Given the description of an element on the screen output the (x, y) to click on. 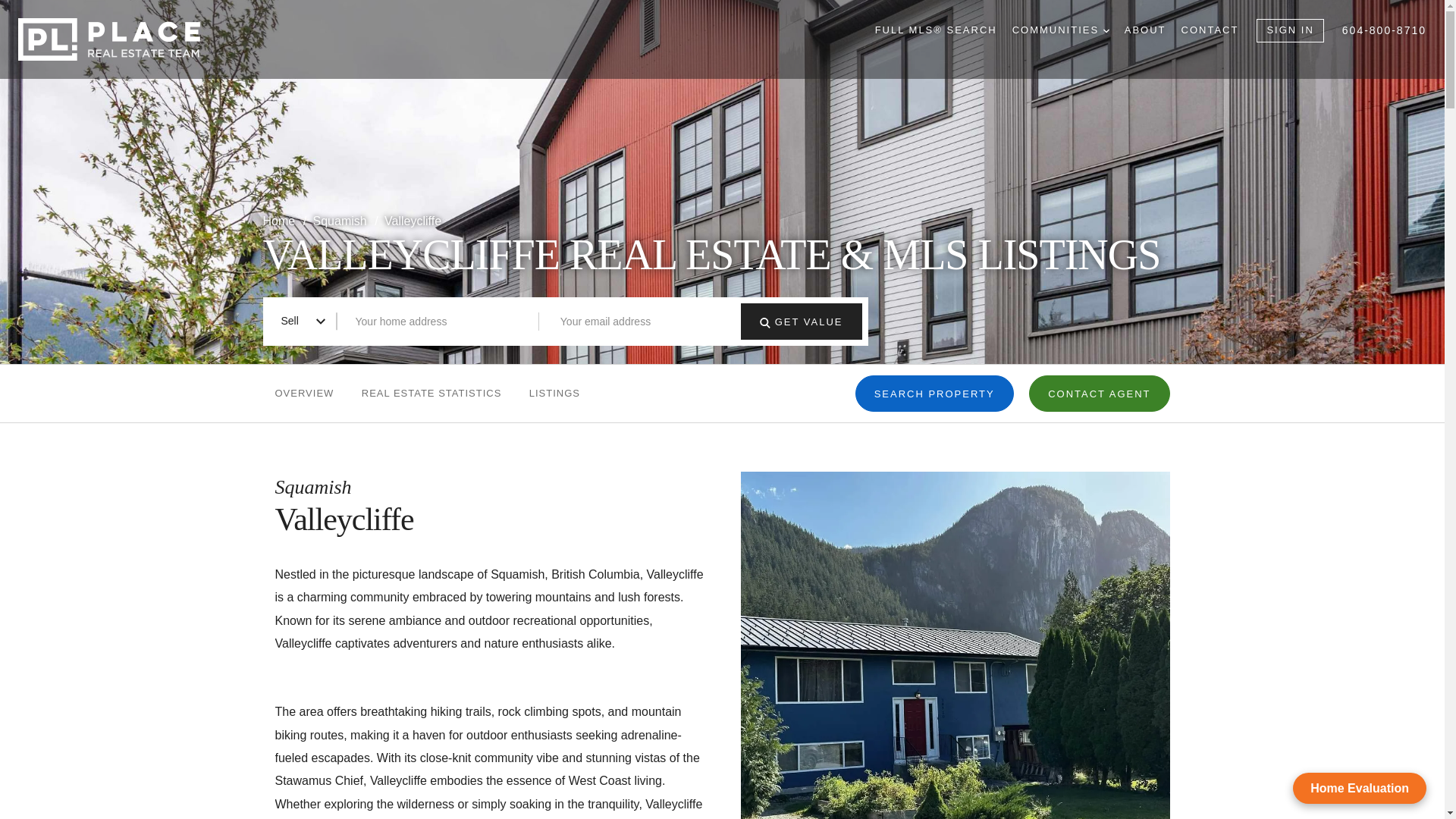
DROPDOWN ARROW (1106, 30)
Get value (765, 322)
604-800-8710 (1384, 29)
Sell (301, 321)
Valleycliffe (412, 220)
Squamish (342, 220)
ABOUT (1145, 30)
Home (280, 220)
CONTACT (1209, 30)
COMMUNITIES DROPDOWN ARROW (1060, 30)
SIGN IN (1289, 30)
